Given the description of an element on the screen output the (x, y) to click on. 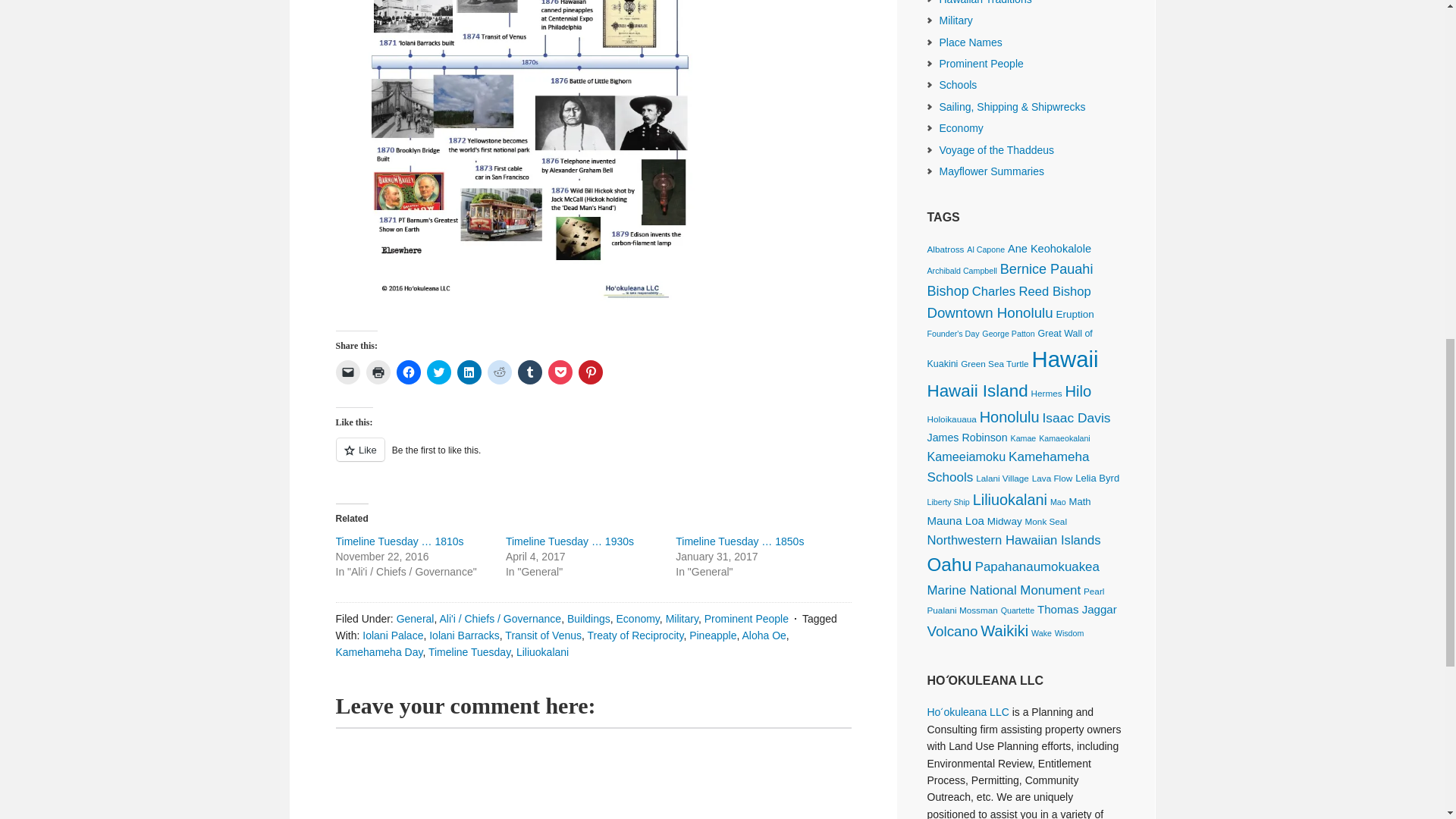
Click to share on LinkedIn (468, 372)
Click to share on Pocket (559, 372)
Click to share on Tumblr (528, 372)
Click to share on Twitter (437, 372)
Like or Reblog (592, 458)
Click to share on Facebook (408, 372)
Click to print (377, 372)
Click to email a link to a friend (346, 372)
Click to share on Reddit (498, 372)
Click to share on Pinterest (590, 372)
